Given the description of an element on the screen output the (x, y) to click on. 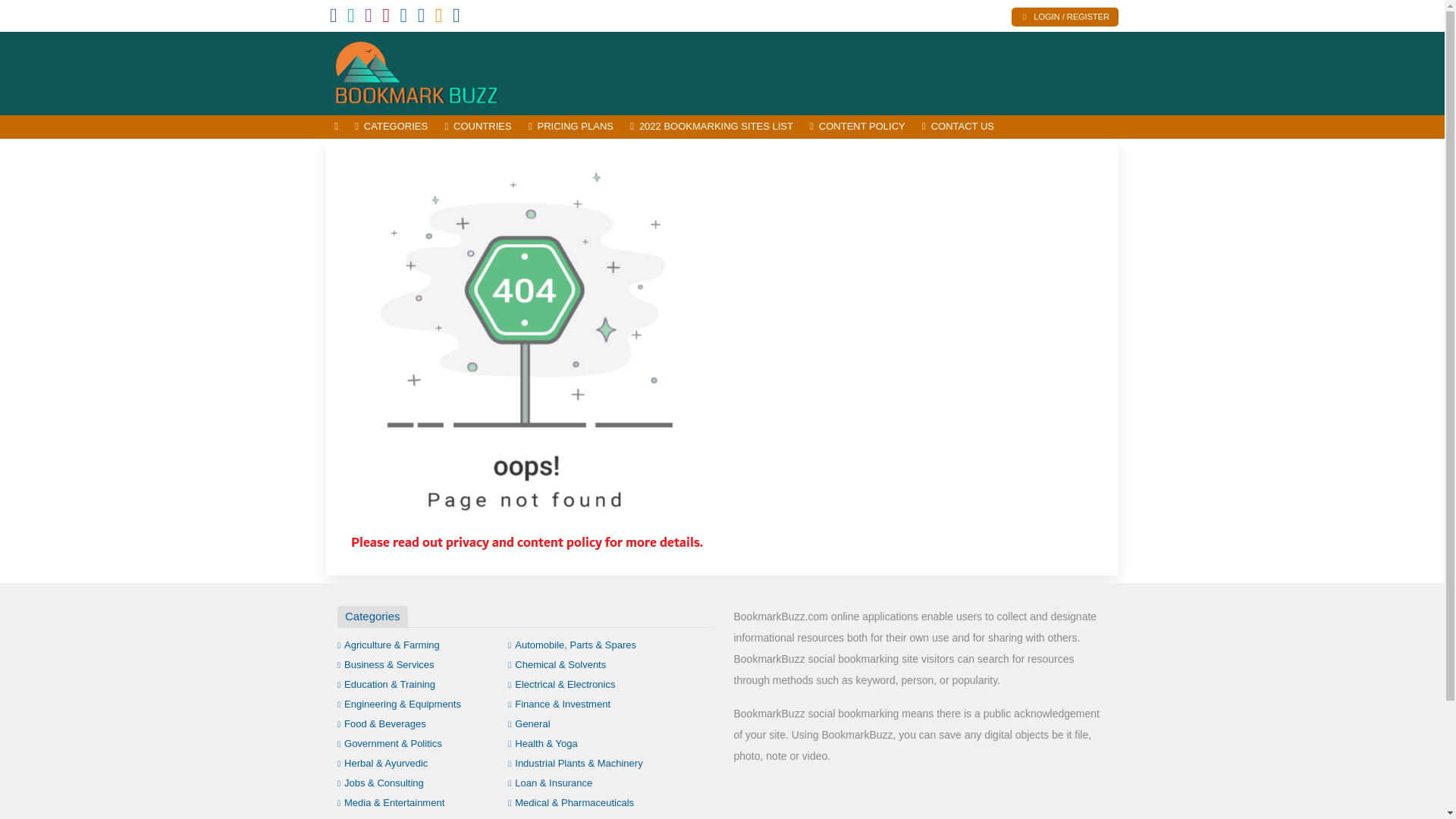
COUNTRIES (477, 126)
2022 BOOKMARKING SITES LIST (711, 126)
CONTACT US (958, 126)
CATEGORIES (390, 126)
PRICING PLANS (570, 126)
CONTENT POLICY (858, 126)
General (529, 723)
